Given the description of an element on the screen output the (x, y) to click on. 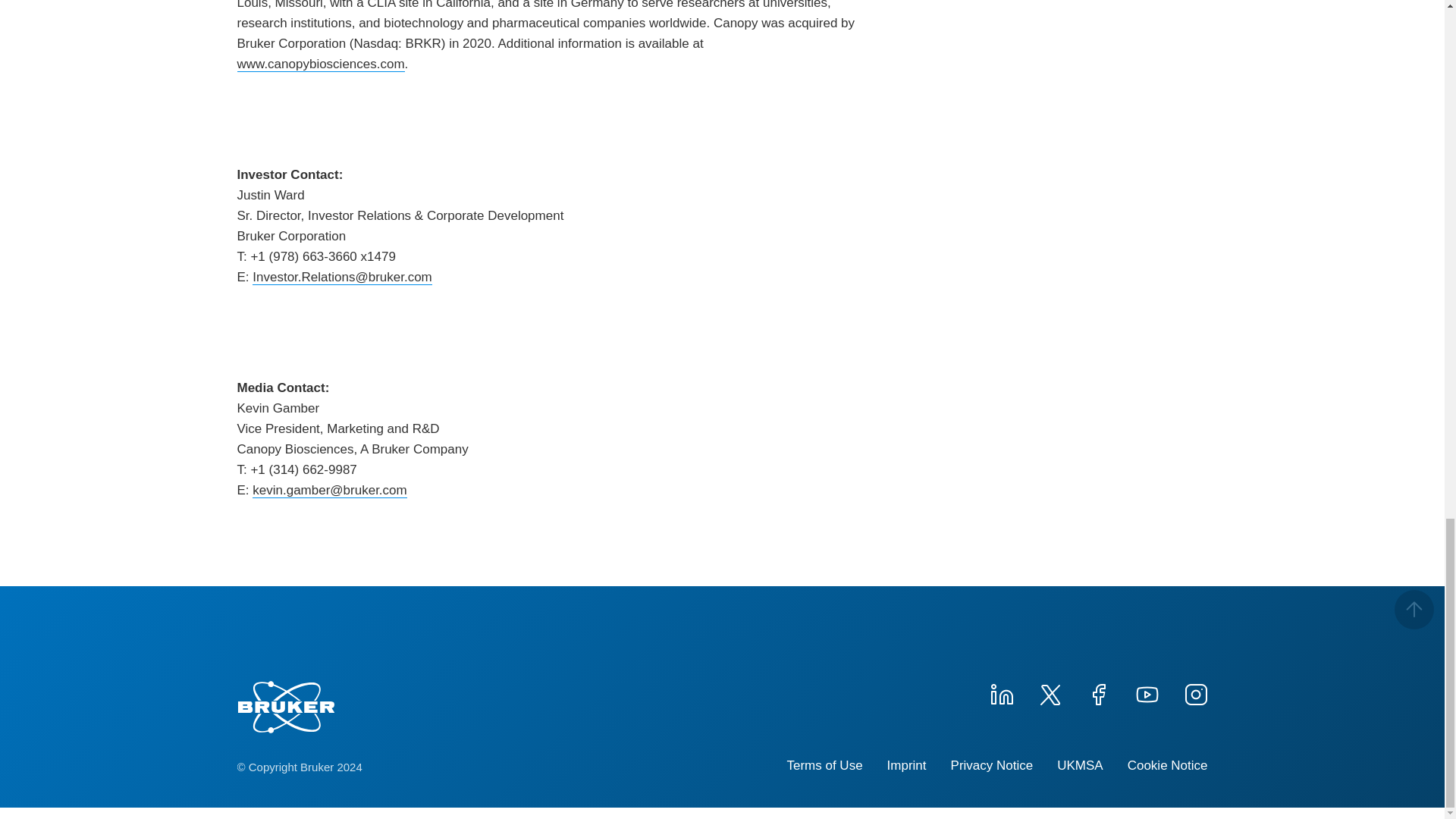
facebook (1097, 692)
instagram (1194, 692)
Terms of Use (823, 765)
youtube (1146, 692)
linkedin (1000, 692)
www.canopybiosciences.com (319, 64)
twitter (1048, 692)
